Given the description of an element on the screen output the (x, y) to click on. 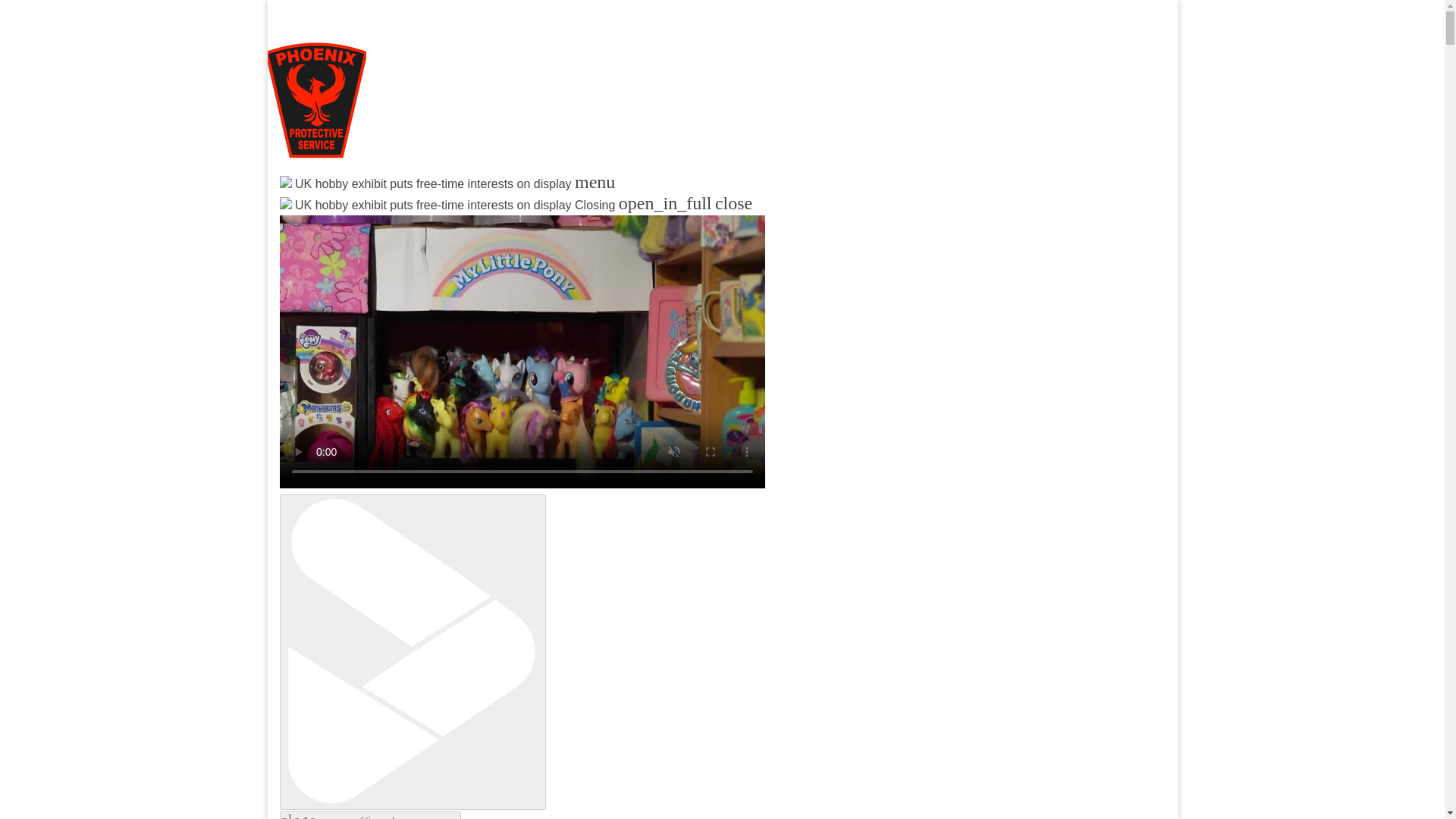
Skope Entertainment Inc (462, 220)
Skope Entertainment Inc (462, 220)
